Given the description of an element on the screen output the (x, y) to click on. 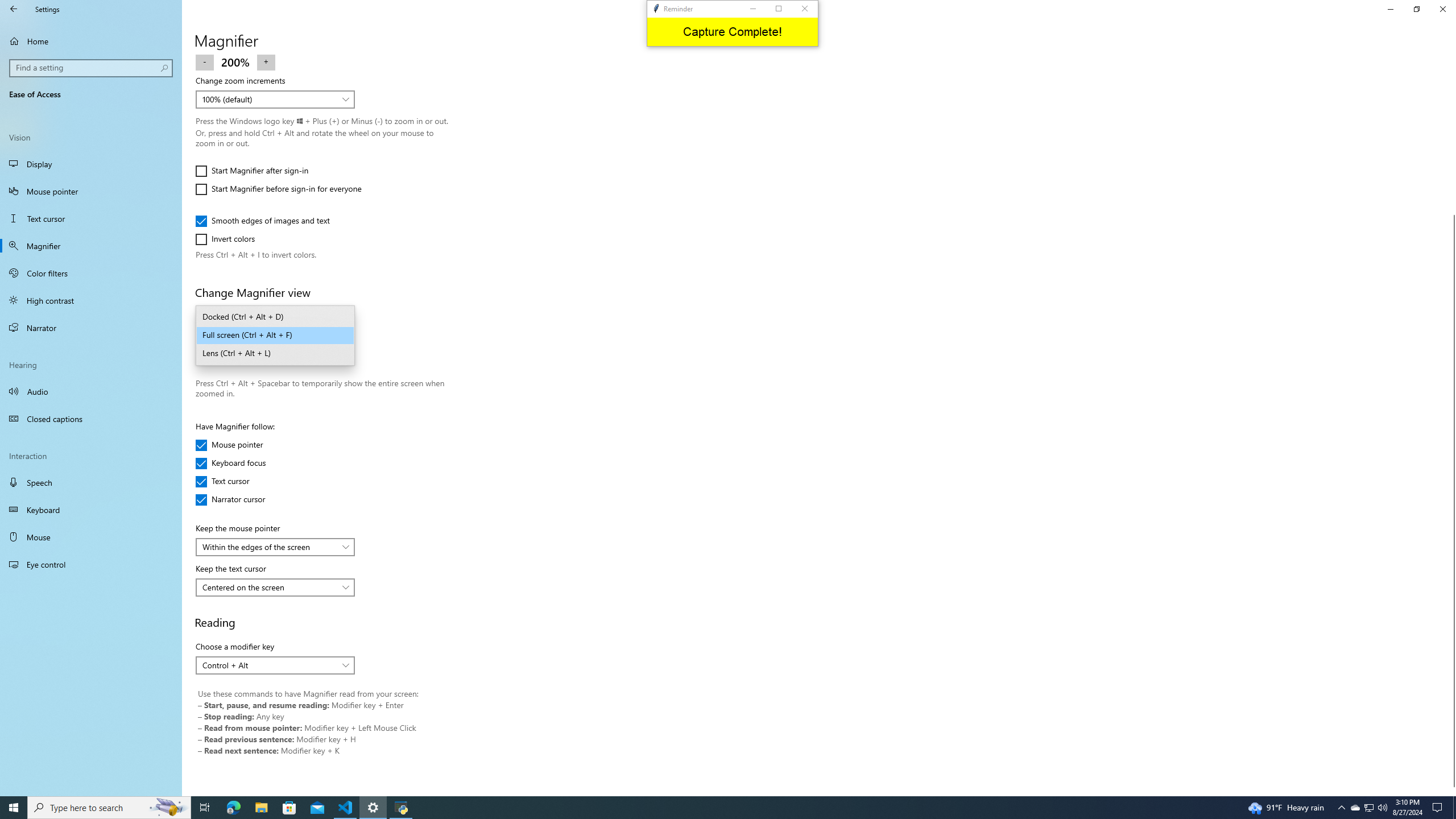
Display (91, 163)
Mouse pointer (229, 445)
Zoom out (204, 61)
Color filters (91, 272)
Audio (91, 390)
Home (91, 40)
Narrator cursor (229, 499)
Text cursor (229, 481)
Vertical Large Decrease (1451, 138)
Smooth edges of images and text (262, 221)
Vertical (1451, 425)
Start Magnifier before sign-in for everyone (278, 189)
Magnifier (91, 245)
